Given the description of an element on the screen output the (x, y) to click on. 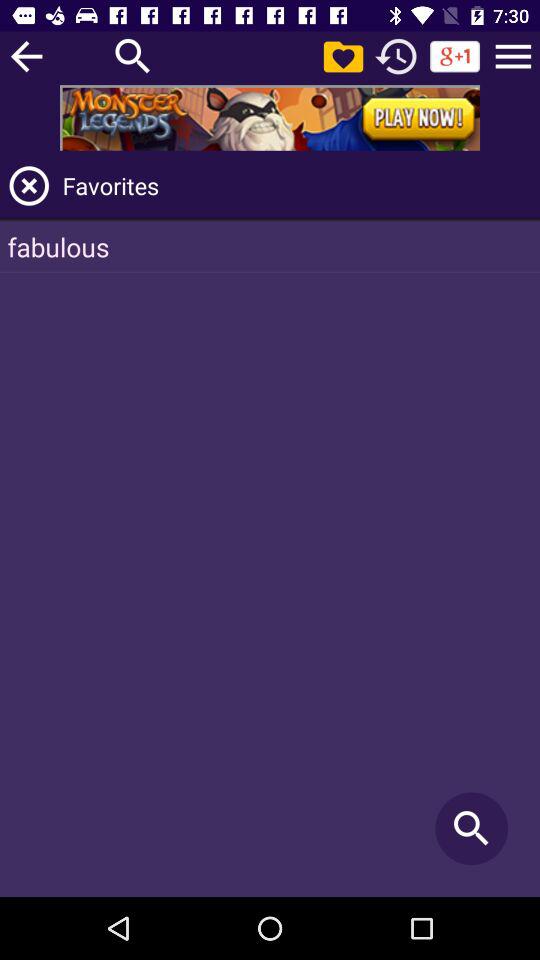
scroll to favorites item (298, 185)
